Given the description of an element on the screen output the (x, y) to click on. 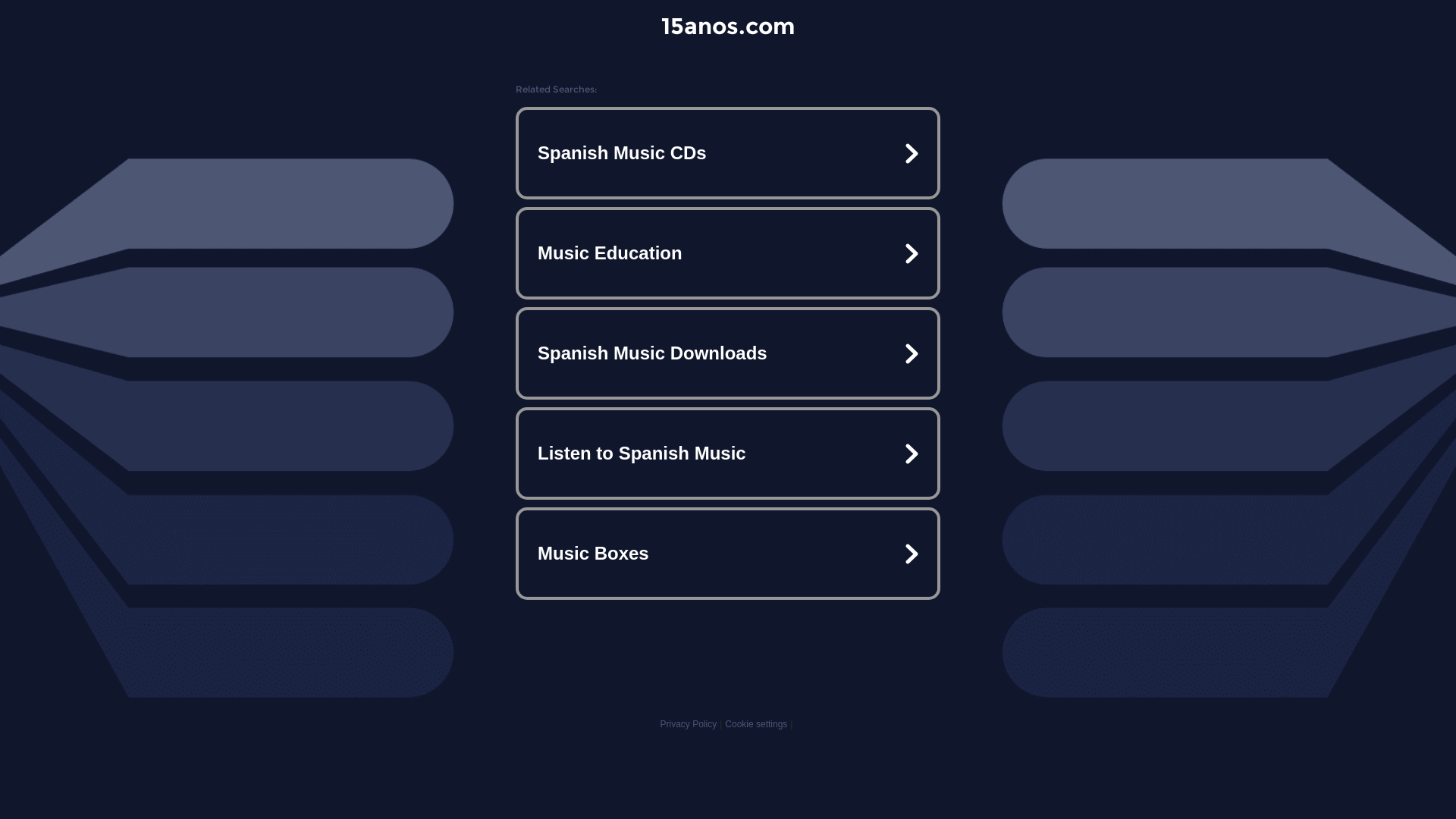
Music Boxes Element type: text (727, 553)
Spanish Music CDs Element type: text (727, 152)
Listen to Spanish Music Element type: text (727, 453)
Spanish Music Downloads Element type: text (727, 353)
15anos.com Element type: text (727, 26)
Music Education Element type: text (727, 253)
Cookie settings Element type: text (755, 723)
Privacy Policy Element type: text (687, 723)
